Given the description of an element on the screen output the (x, y) to click on. 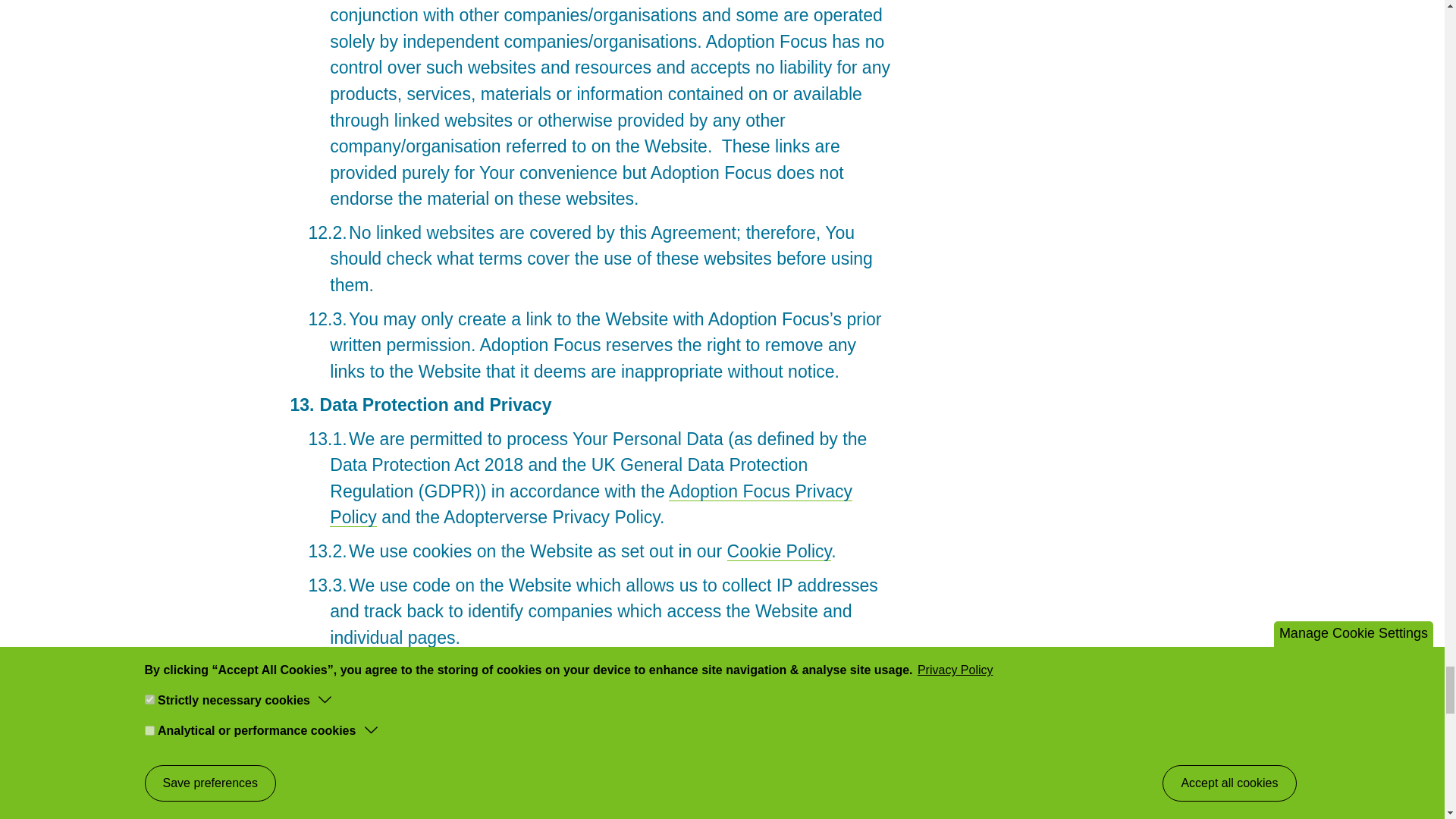
Cookie Policy (778, 551)
Adoption Focus  (731, 491)
Privacy Policy (590, 504)
Privacy Policy (590, 504)
Cookie Policy (778, 551)
